Given the description of an element on the screen output the (x, y) to click on. 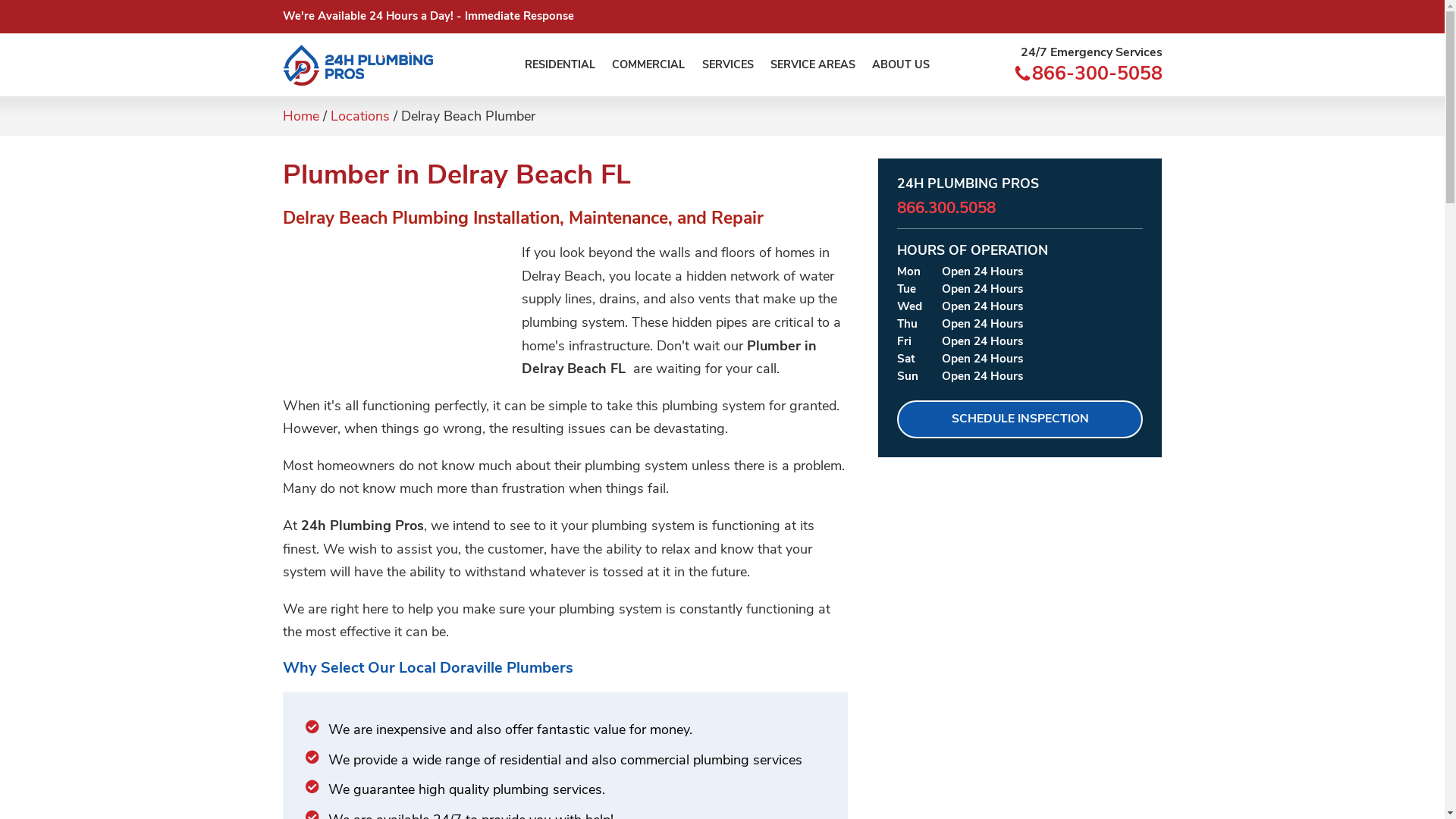
RESIDENTIAL Element type: text (559, 65)
866-300-5058 Element type: text (1096, 75)
SERVICE AREAS Element type: text (812, 65)
SCHEDULE INSPECTION Element type: text (1019, 419)
ABOUT US Element type: text (900, 65)
Locations Element type: text (359, 115)
866.300.5058 Element type: text (946, 207)
SERVICES Element type: text (727, 65)
Home Element type: text (300, 115)
COMMERCIAL Element type: text (648, 65)
